Given the description of an element on the screen output the (x, y) to click on. 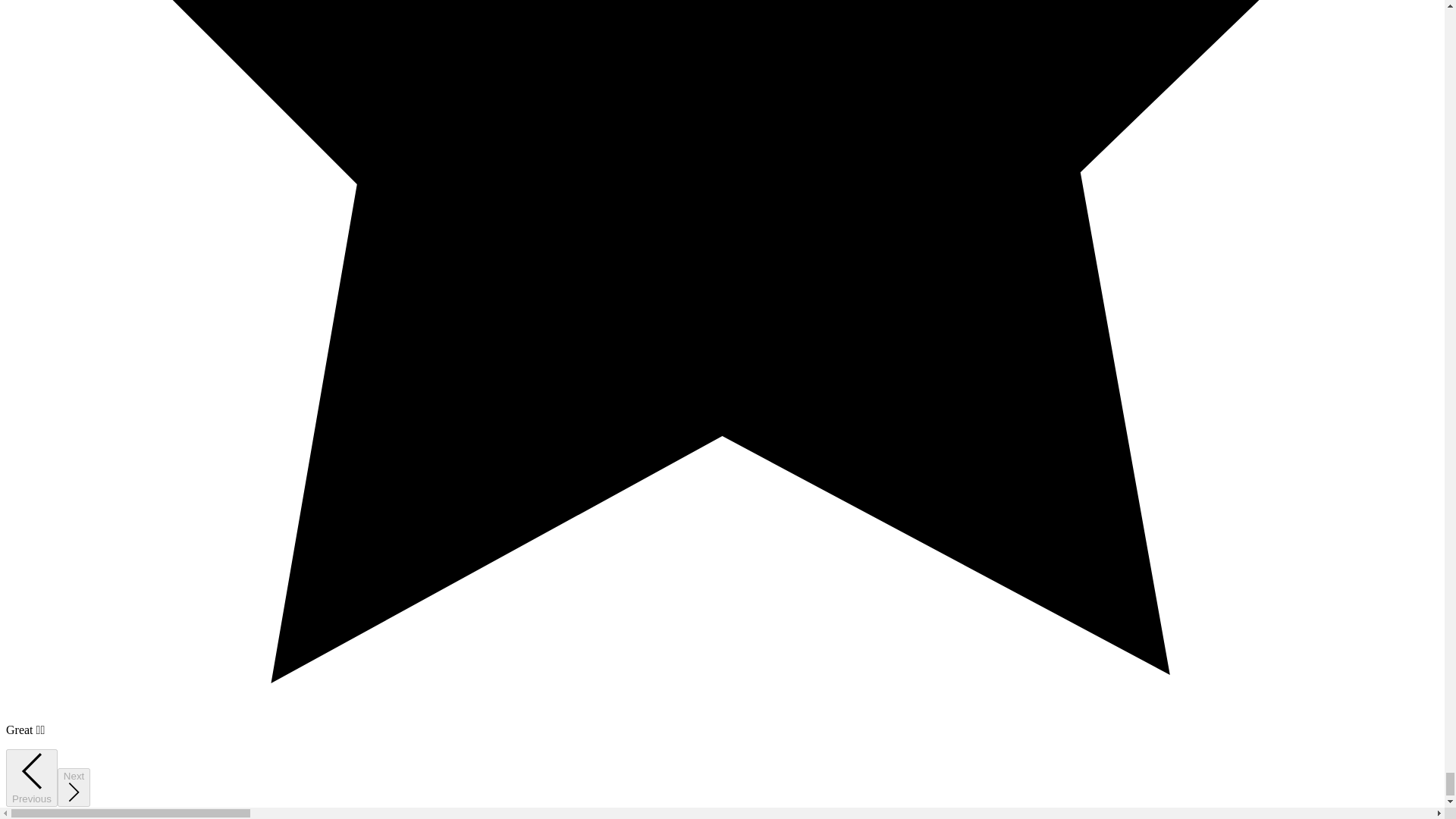
Previous (31, 777)
